Given the description of an element on the screen output the (x, y) to click on. 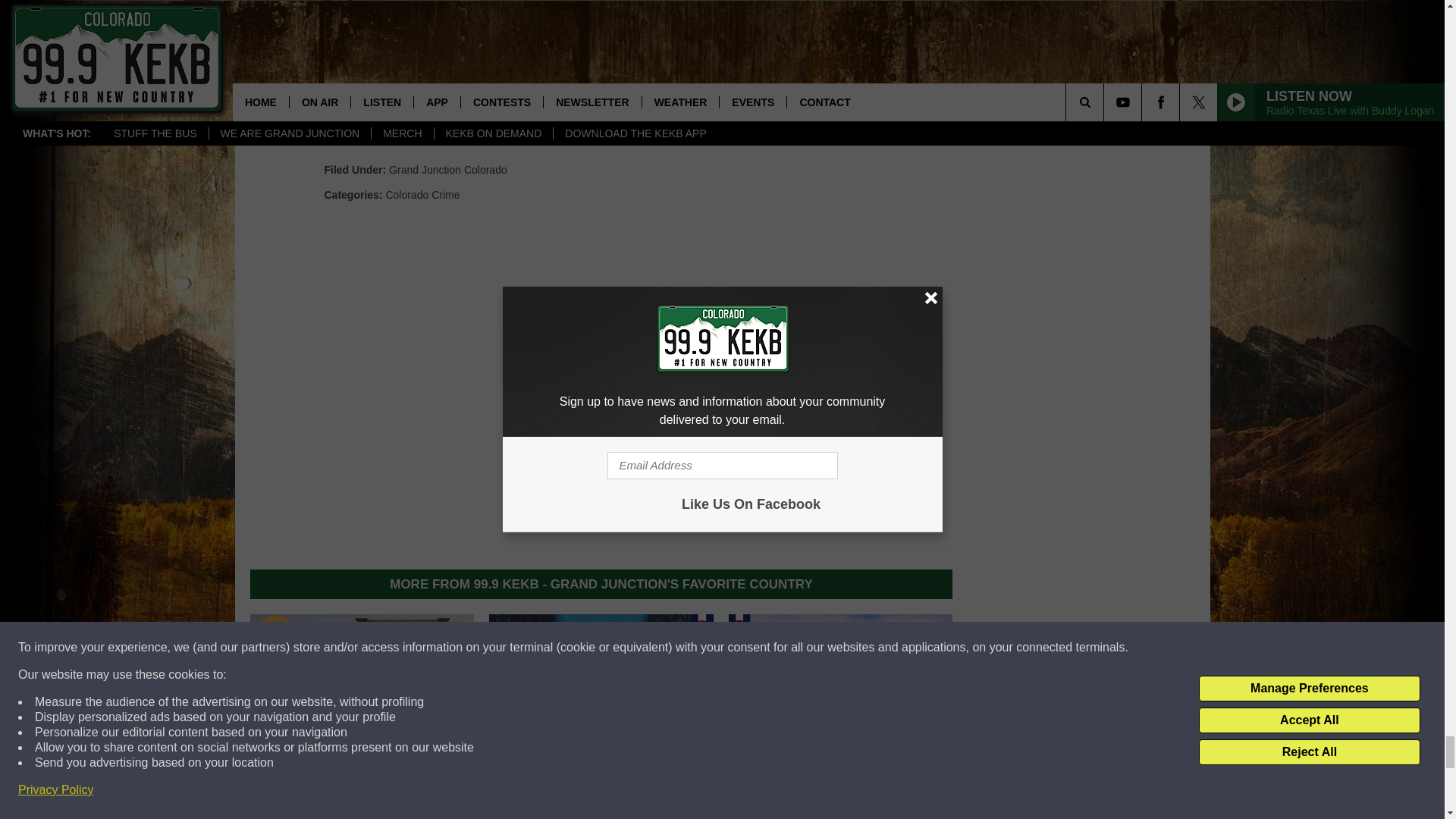
Email Address (600, 95)
